Given the description of an element on the screen output the (x, y) to click on. 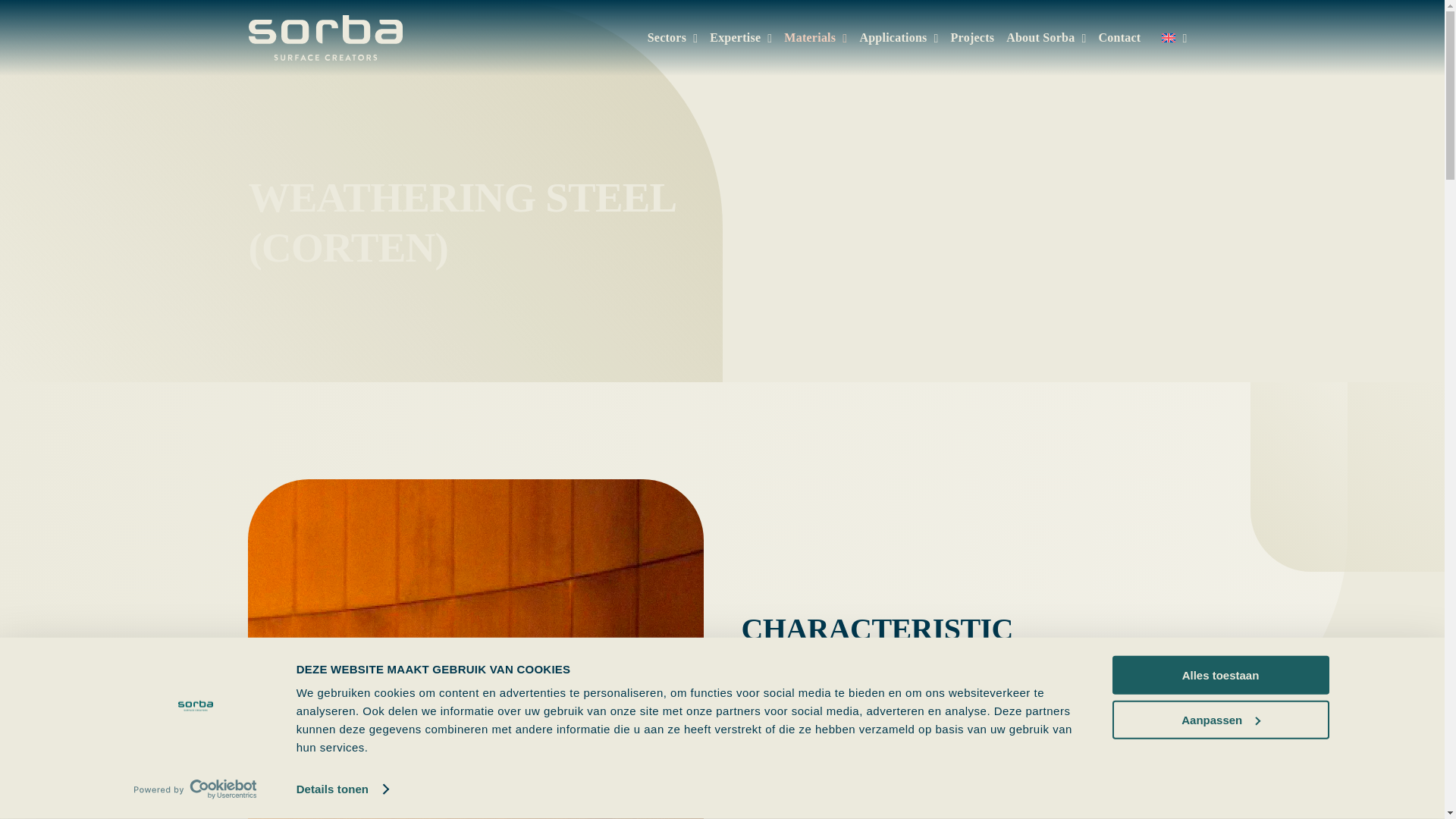
Details tonen (342, 789)
Alles toestaan (1219, 675)
Aanpassen (1219, 719)
